Given the description of an element on the screen output the (x, y) to click on. 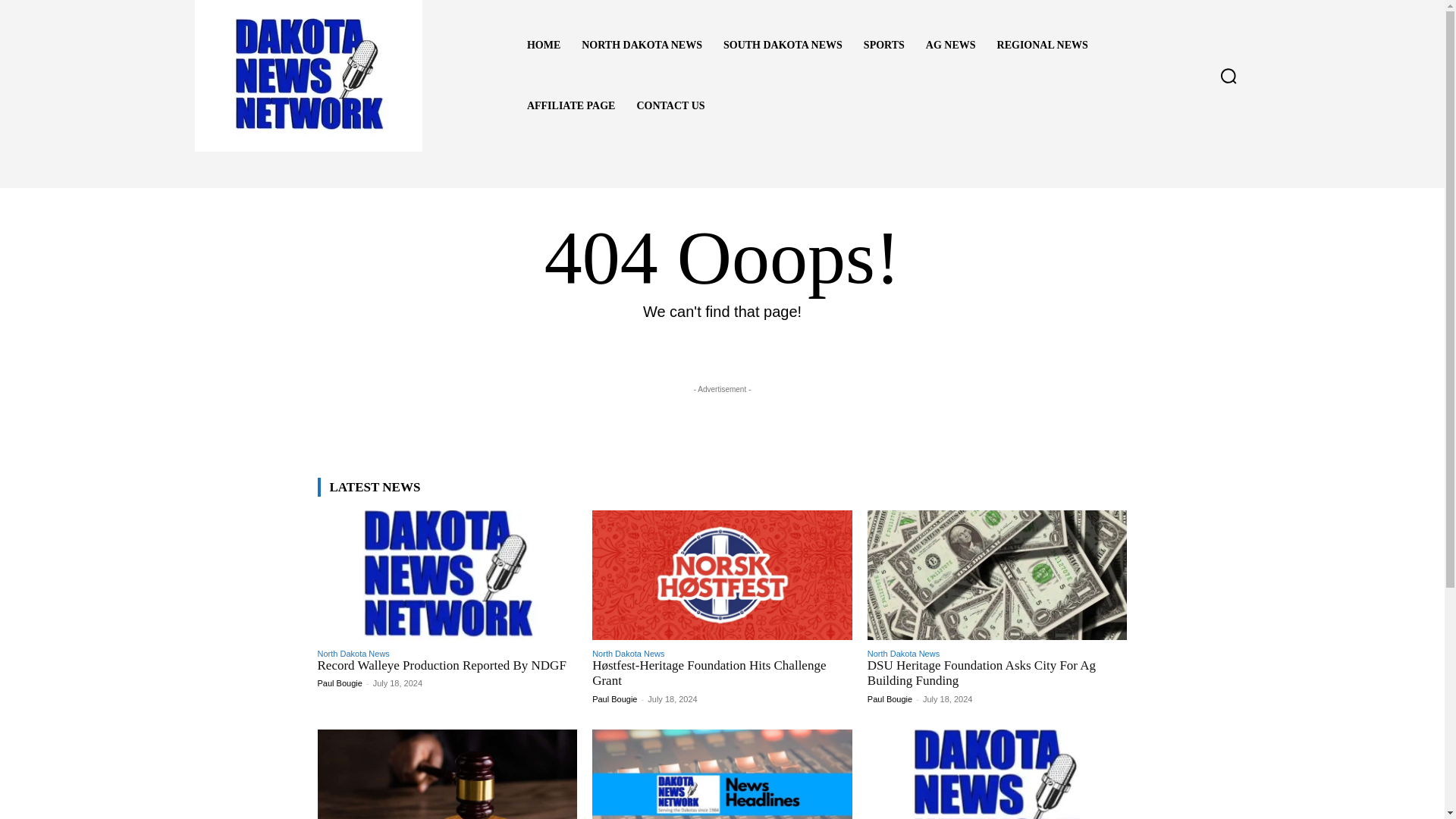
SPORTS (884, 45)
Record Walleye Production Reported By NDGF (441, 665)
Paul Bougie (614, 698)
Record Walleye Production Reported By NDGF (446, 574)
CONTACT US (670, 106)
Carrington Derailment Cleanup Could Take All Summer (721, 774)
AFFILIATE PAGE (571, 106)
North Dakota News (903, 654)
REGIONAL NEWS (1043, 45)
Record Walleye Production Reported By NDGF (441, 665)
